Given the description of an element on the screen output the (x, y) to click on. 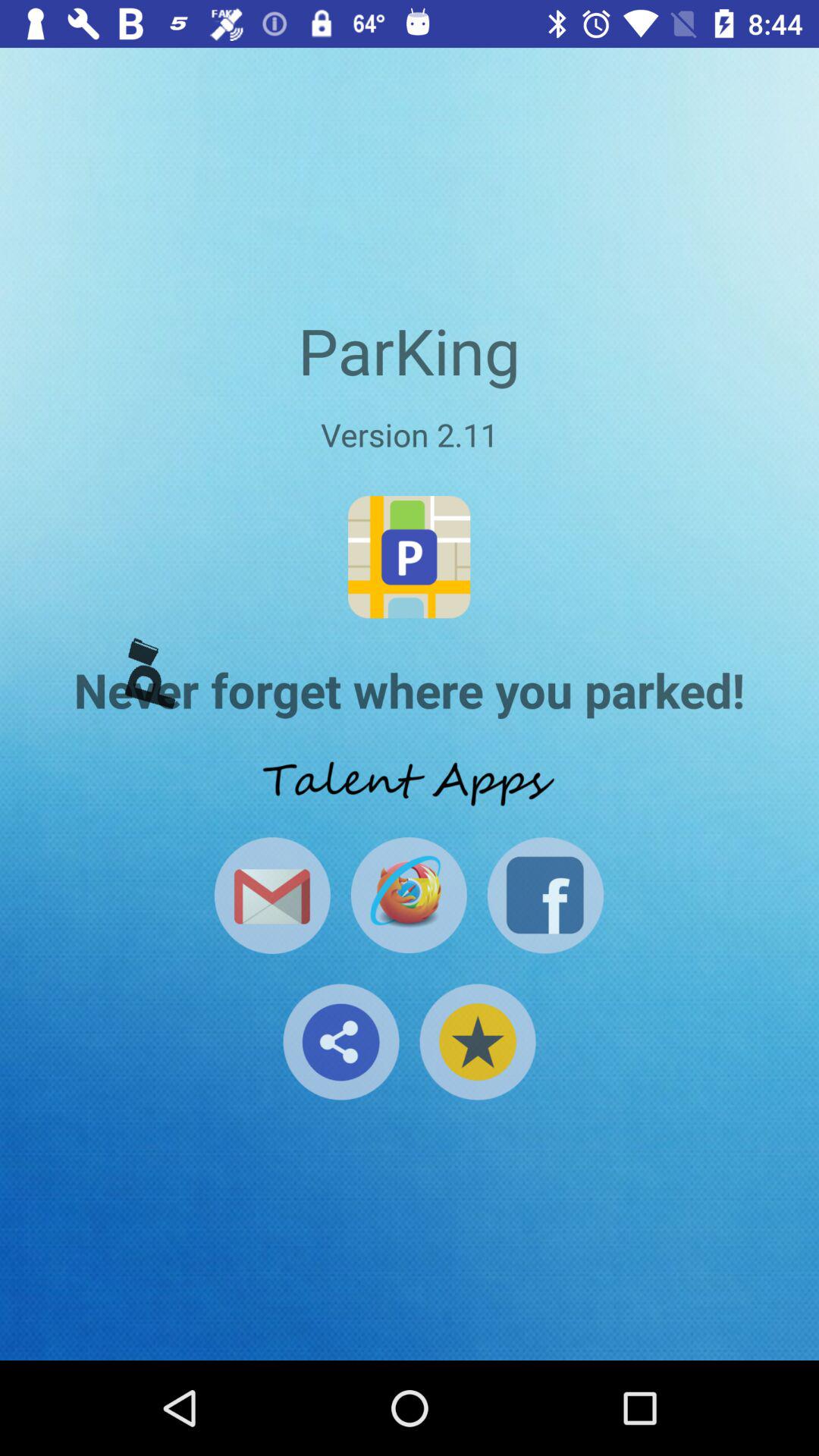
add to favorite (477, 1041)
